Given the description of an element on the screen output the (x, y) to click on. 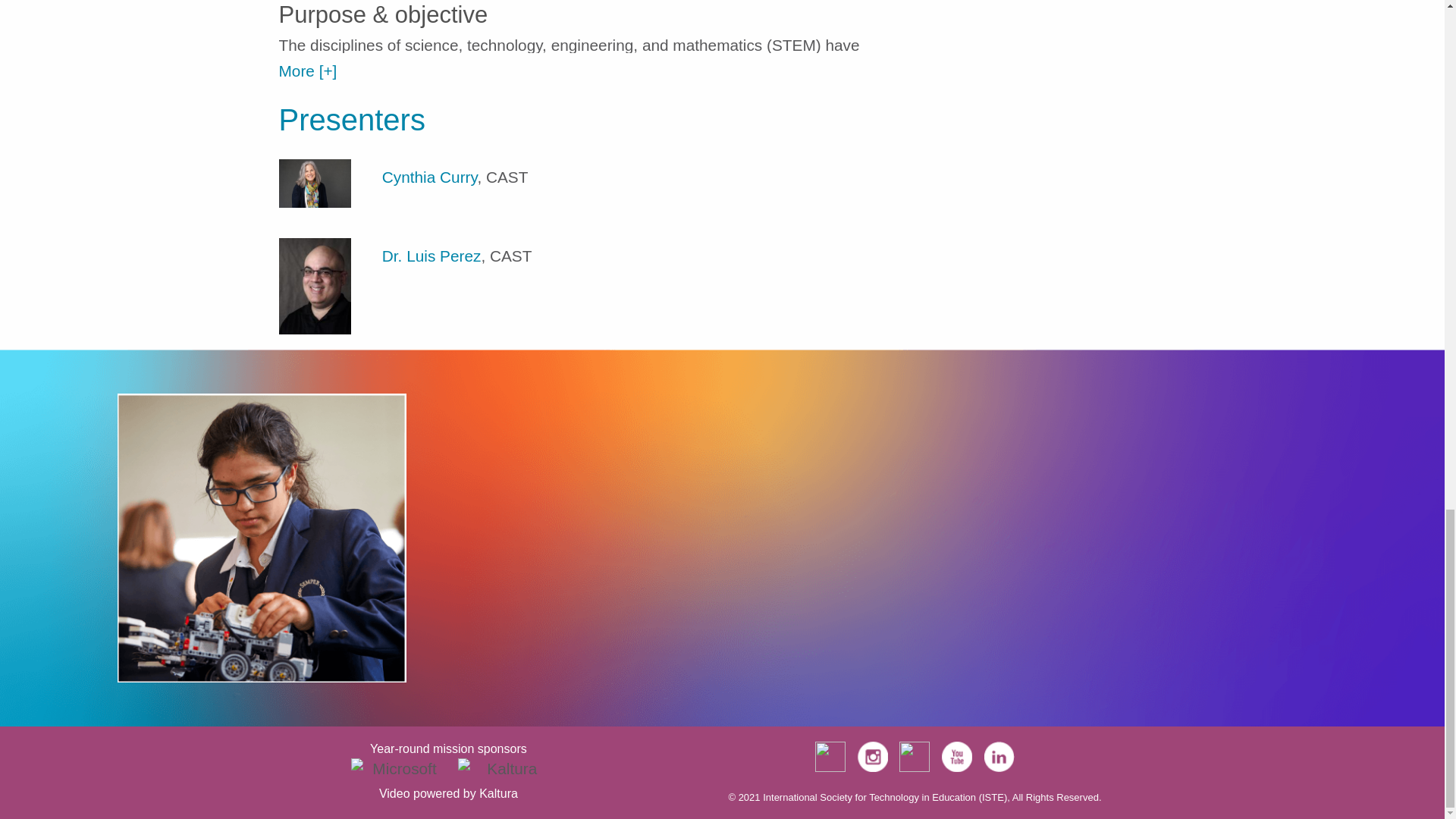
Photo (315, 183)
